Given the description of an element on the screen output the (x, y) to click on. 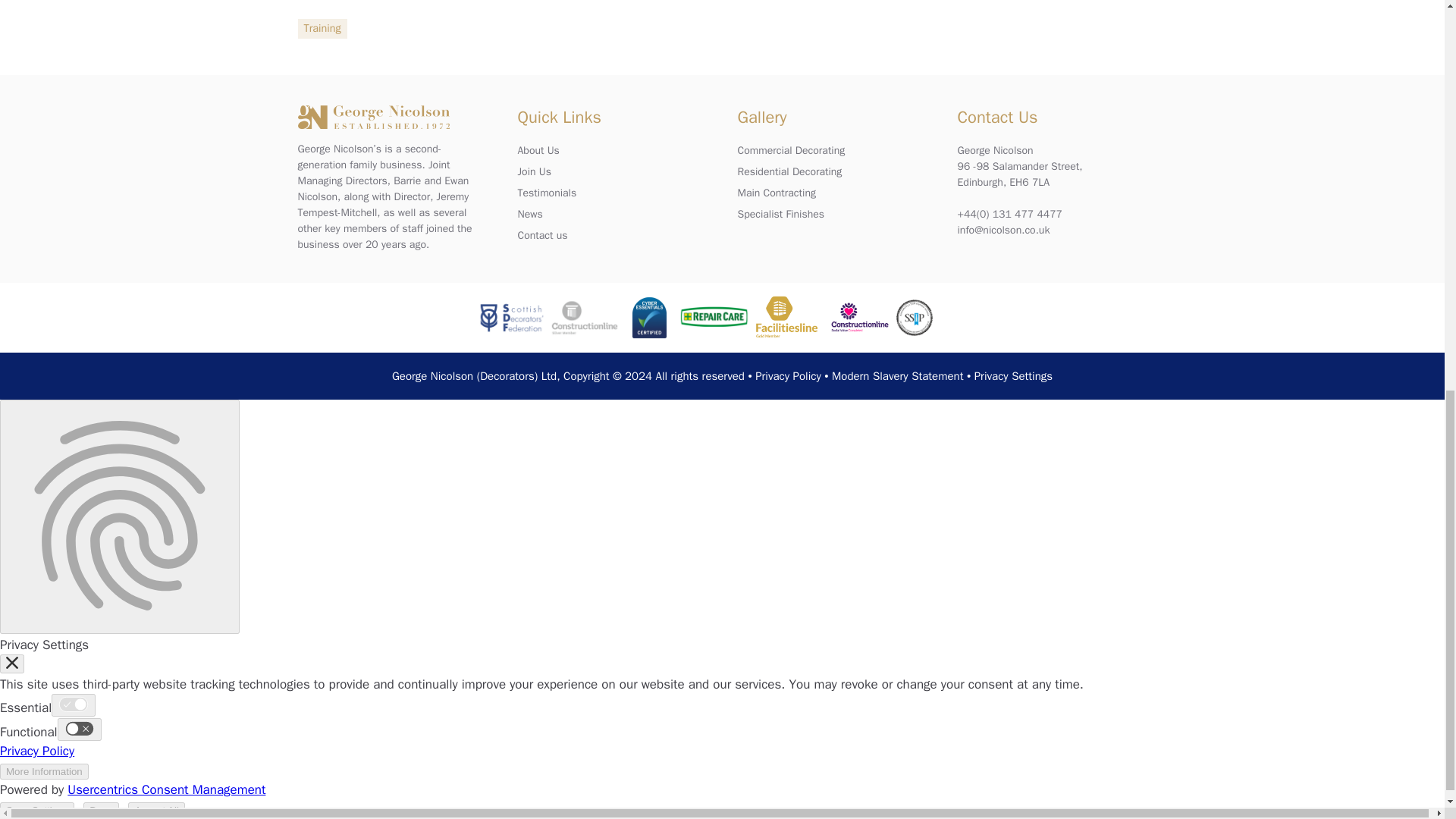
Social Value - Completed Logo v1 (859, 316)
Cyber-Essentials-400x300-px (649, 317)
6ba51974-69c7-11ed-9f51-7243734b9095 (787, 317)
Training (321, 28)
Scroll back to top (1406, 761)
